Given the description of an element on the screen output the (x, y) to click on. 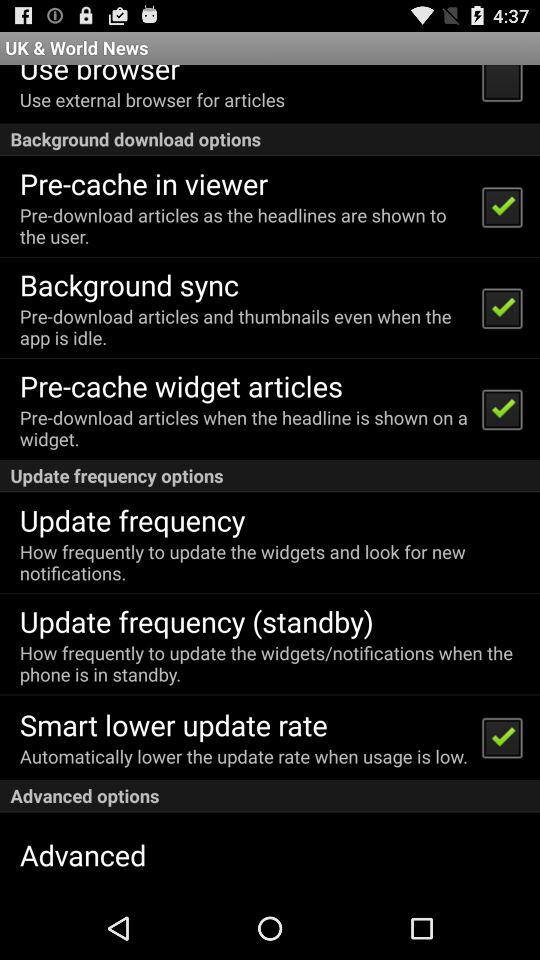
select advanced options (270, 796)
